Given the description of an element on the screen output the (x, y) to click on. 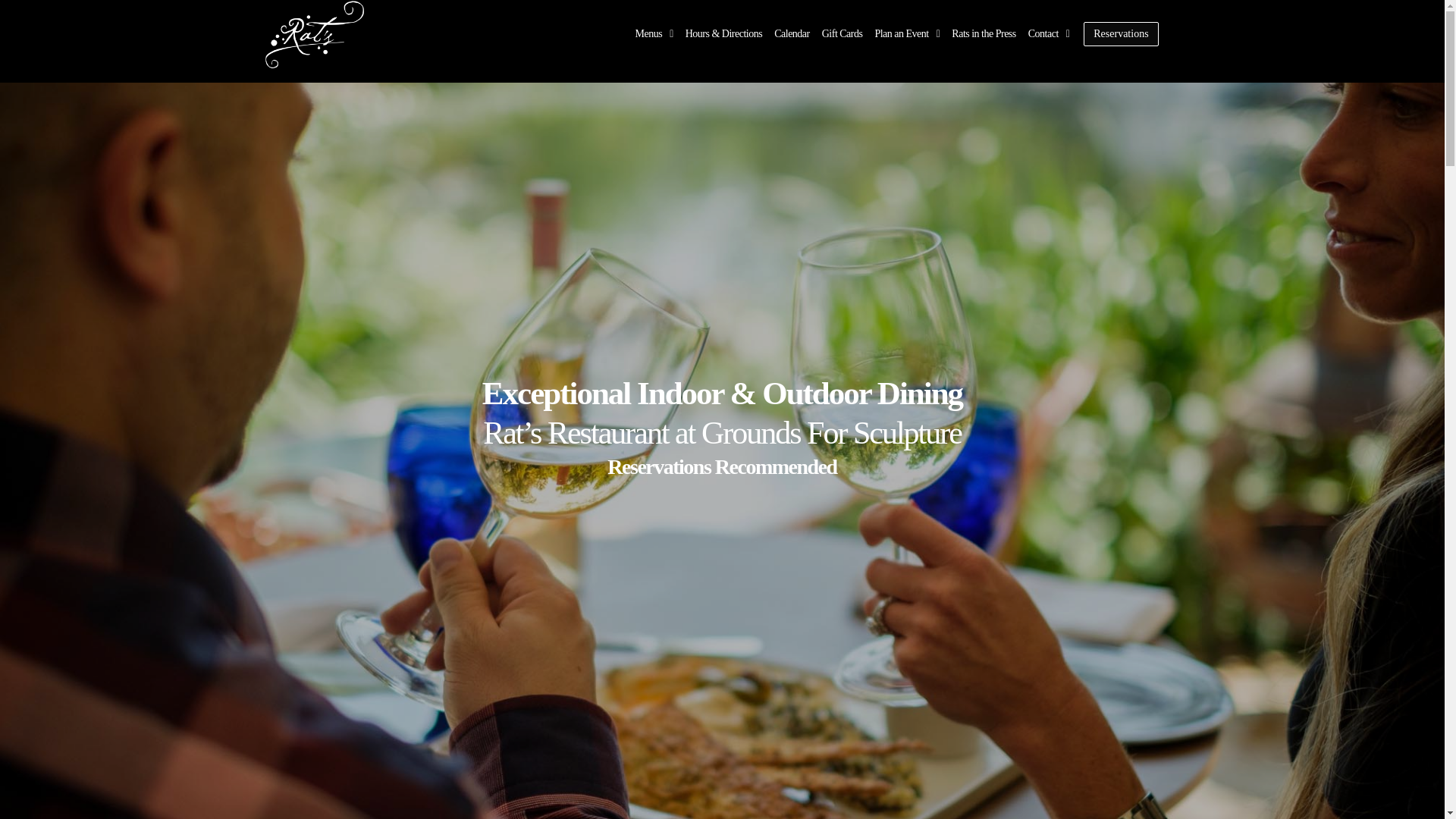
Contact (1048, 33)
Menus (653, 33)
Gift Cards (842, 33)
Rats in the Press (983, 33)
Calendar (791, 33)
Plan an Event (905, 33)
